Given the description of an element on the screen output the (x, y) to click on. 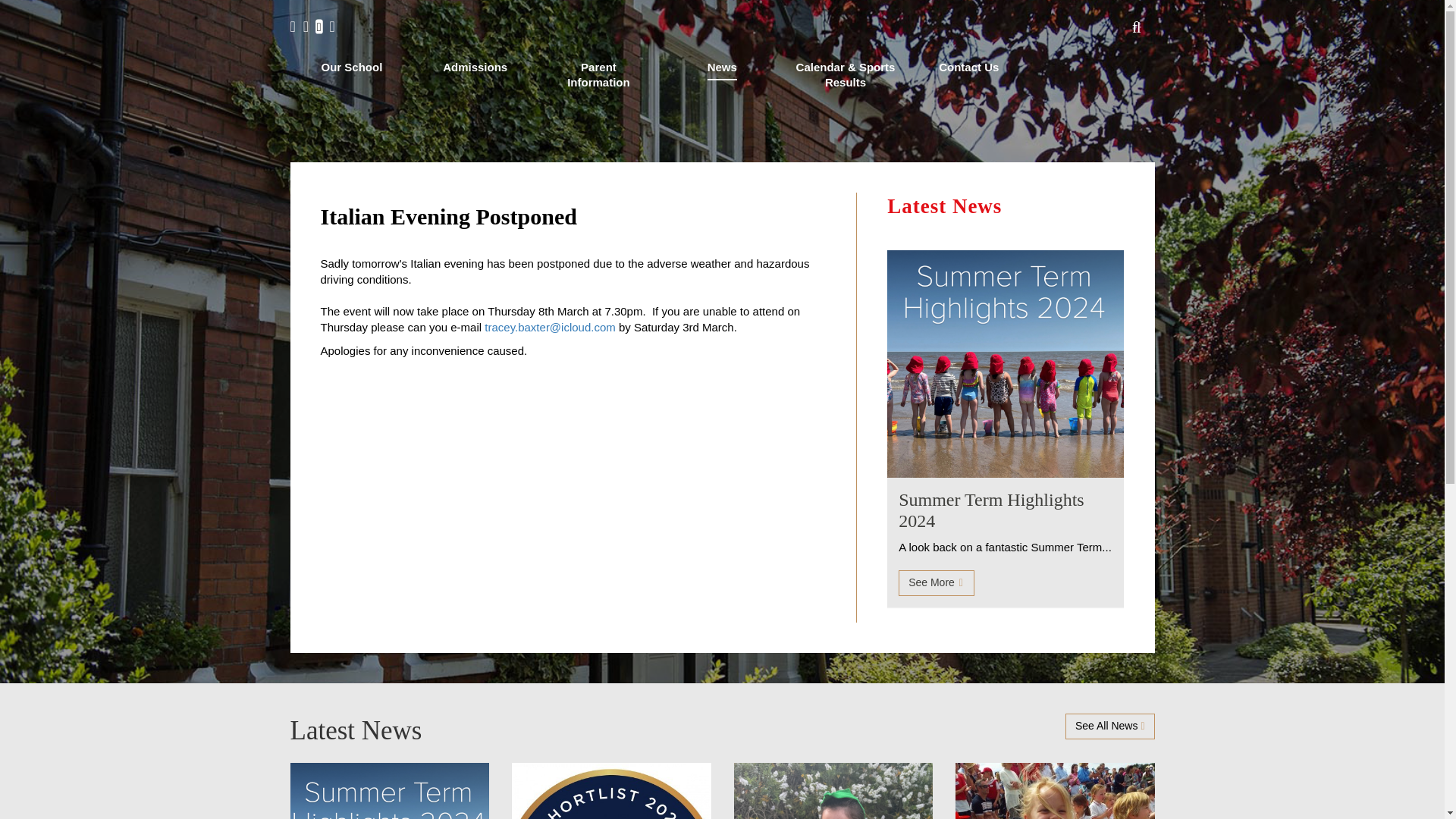
Admissions (475, 67)
Our School (351, 67)
Parent Information (599, 74)
